Given the description of an element on the screen output the (x, y) to click on. 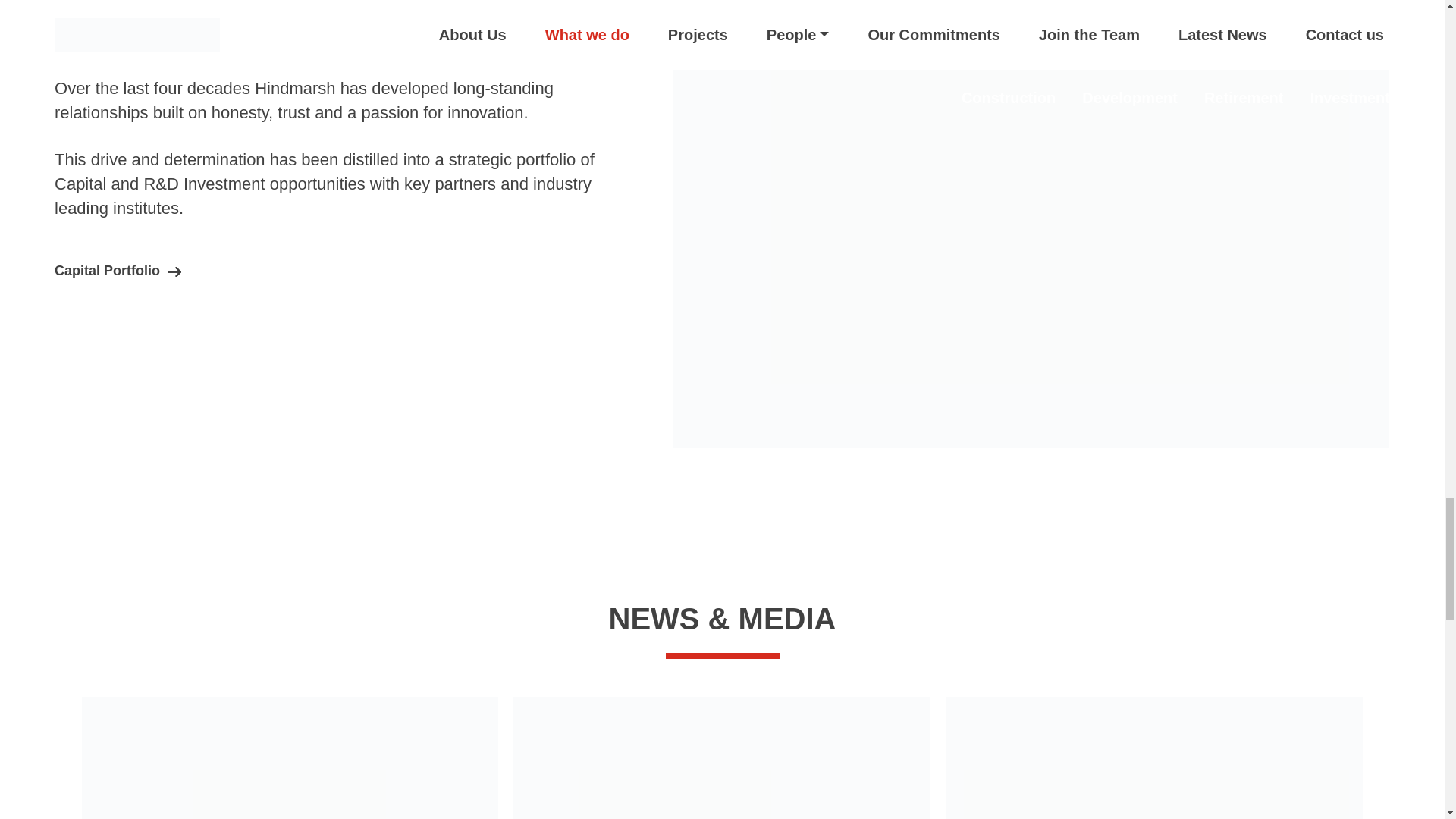
Project Win: ESR Wetherill Industry Park (290, 757)
Project Update: Mount Barker Ambulance Station, SA (721, 757)
Capital Portfolio (117, 270)
